Given the description of an element on the screen output the (x, y) to click on. 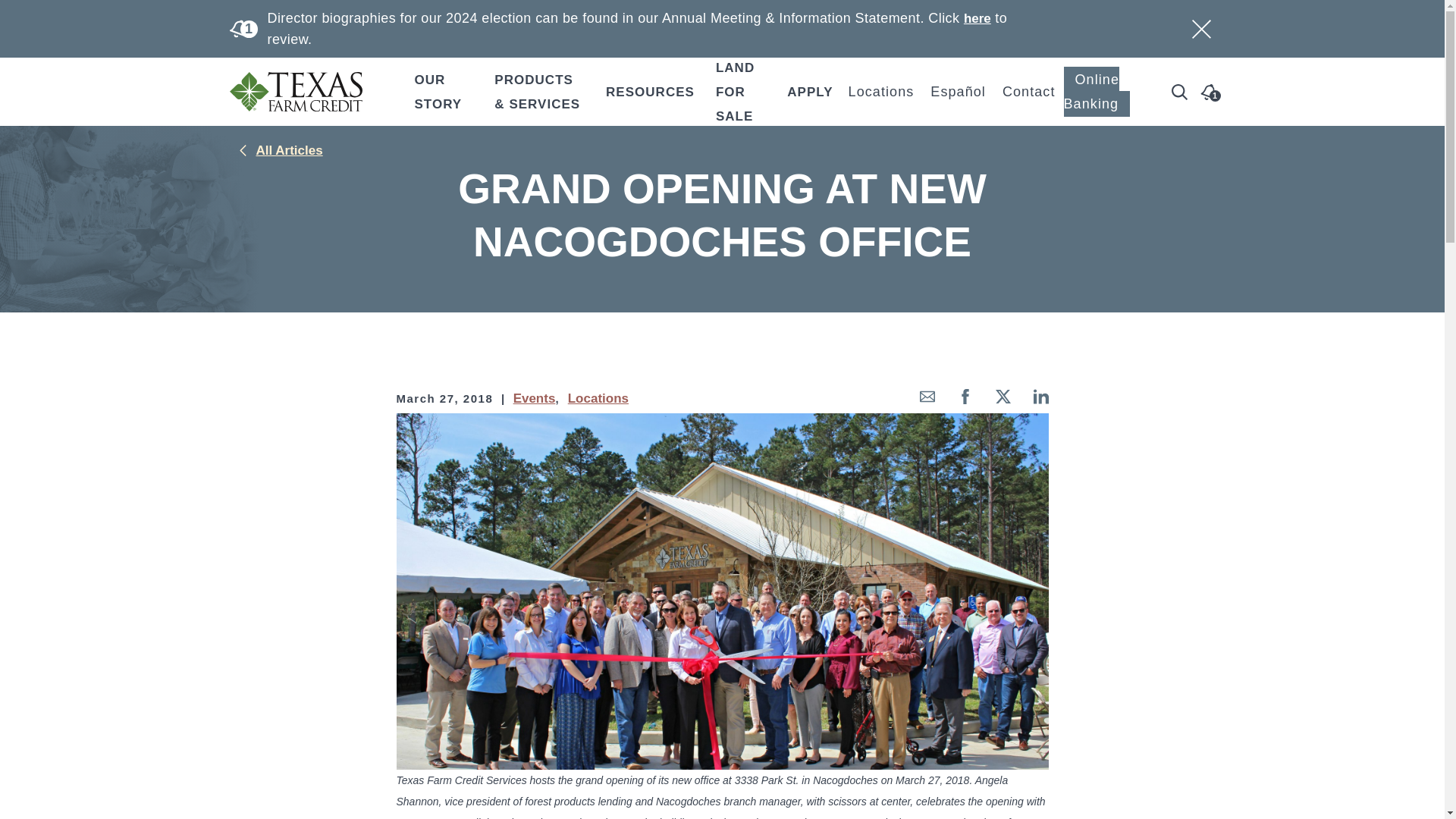
SEARCH (778, 424)
Close Alert Bar (1201, 28)
here (977, 18)
Share to LinkedIn (1040, 400)
OUR STORY (443, 91)
